Given the description of an element on the screen output the (x, y) to click on. 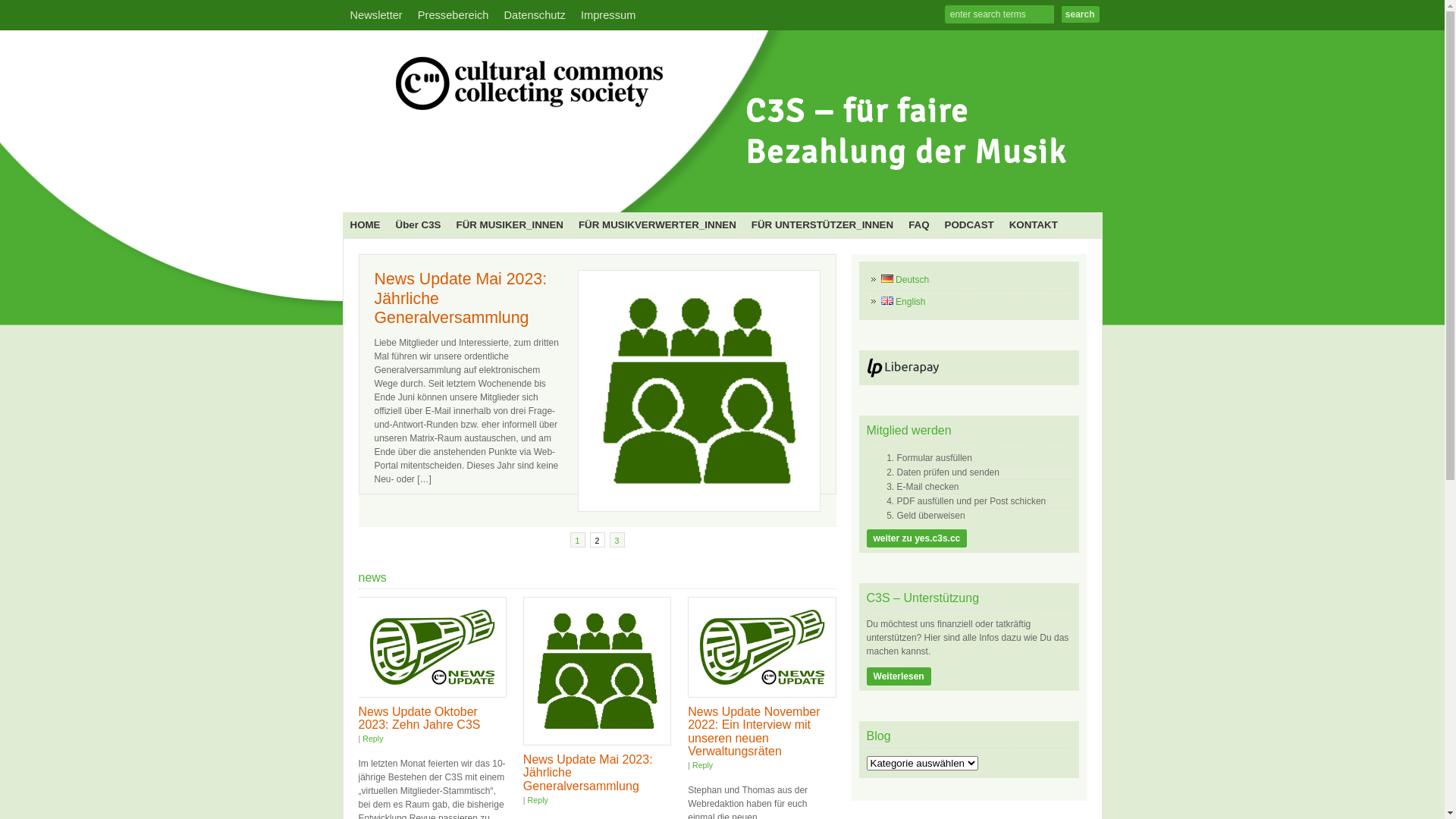
Datenschutz Element type: text (533, 15)
Impressum Element type: text (608, 15)
news Element type: text (371, 577)
Weiterlesen Element type: text (898, 676)
Deutsch Element type: text (905, 279)
PODCAST Element type: text (969, 225)
KONTAKT Element type: text (1033, 225)
Newsletter Element type: text (376, 15)
English Element type: text (903, 301)
Reply Element type: text (537, 799)
Pressebereich Element type: text (453, 15)
News Update Oktober 2023: Zehn Jahre C3S Element type: text (455, 288)
C3S Element type: hover (717, 186)
FAQ Element type: text (918, 225)
News Update Oktober 2023: Zehn Jahre C3S Element type: text (418, 718)
News Update Oktober 2023: Zehn Jahre C3S Element type: hover (431, 646)
Reply Element type: text (372, 738)
3 Element type: text (616, 506)
weiter zu yes.c3s.cc Element type: text (916, 538)
HOME Element type: text (365, 225)
2 Element type: text (597, 506)
search Element type: text (1080, 14)
Reply Element type: text (702, 764)
1 Element type: text (577, 506)
